Given the description of an element on the screen output the (x, y) to click on. 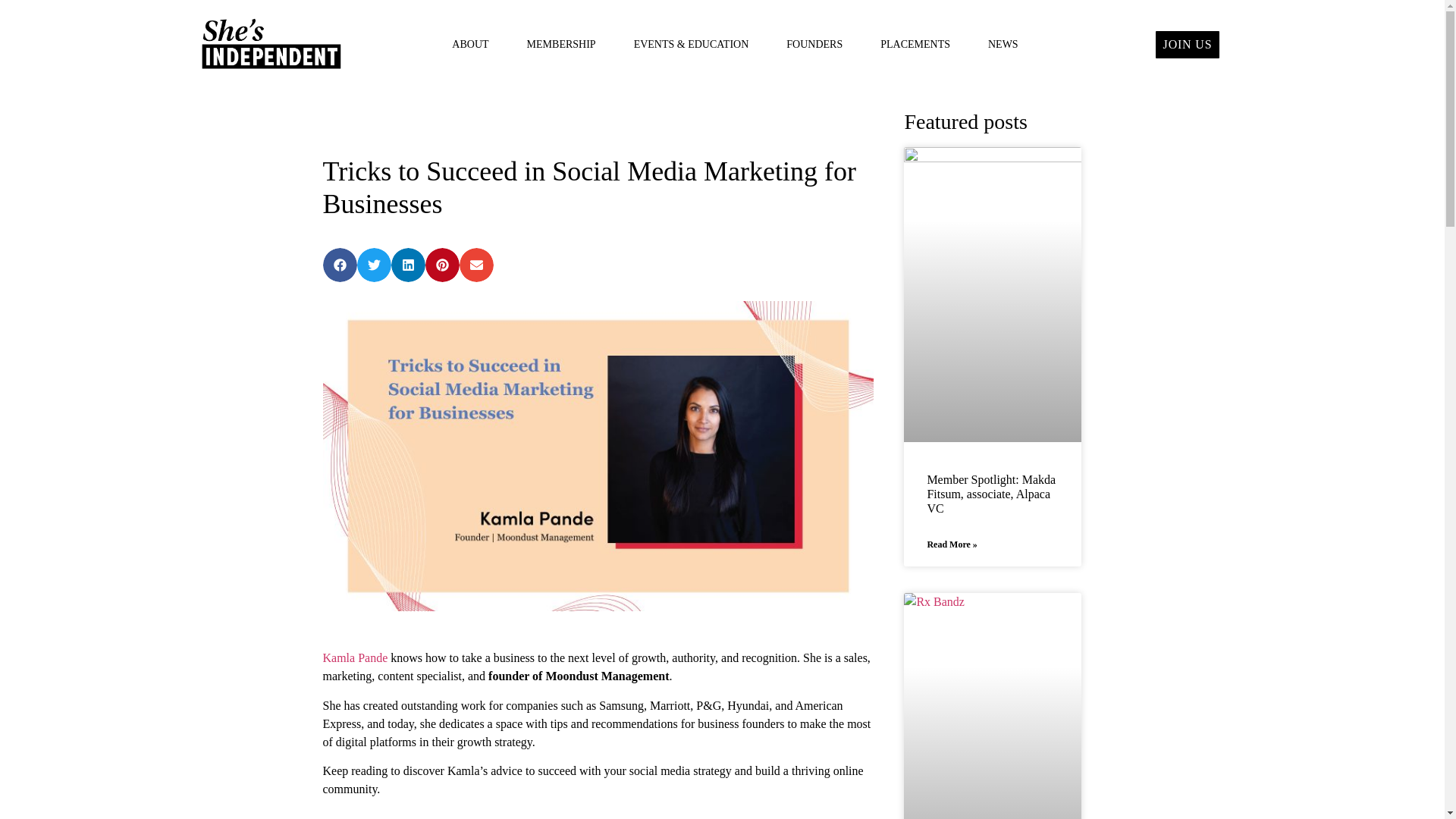
NEWS (1002, 44)
JOIN US (1188, 44)
FOUNDERS (814, 44)
MEMBERSHIP (561, 44)
ABOUT (469, 44)
PLACEMENTS (915, 44)
